Given the description of an element on the screen output the (x, y) to click on. 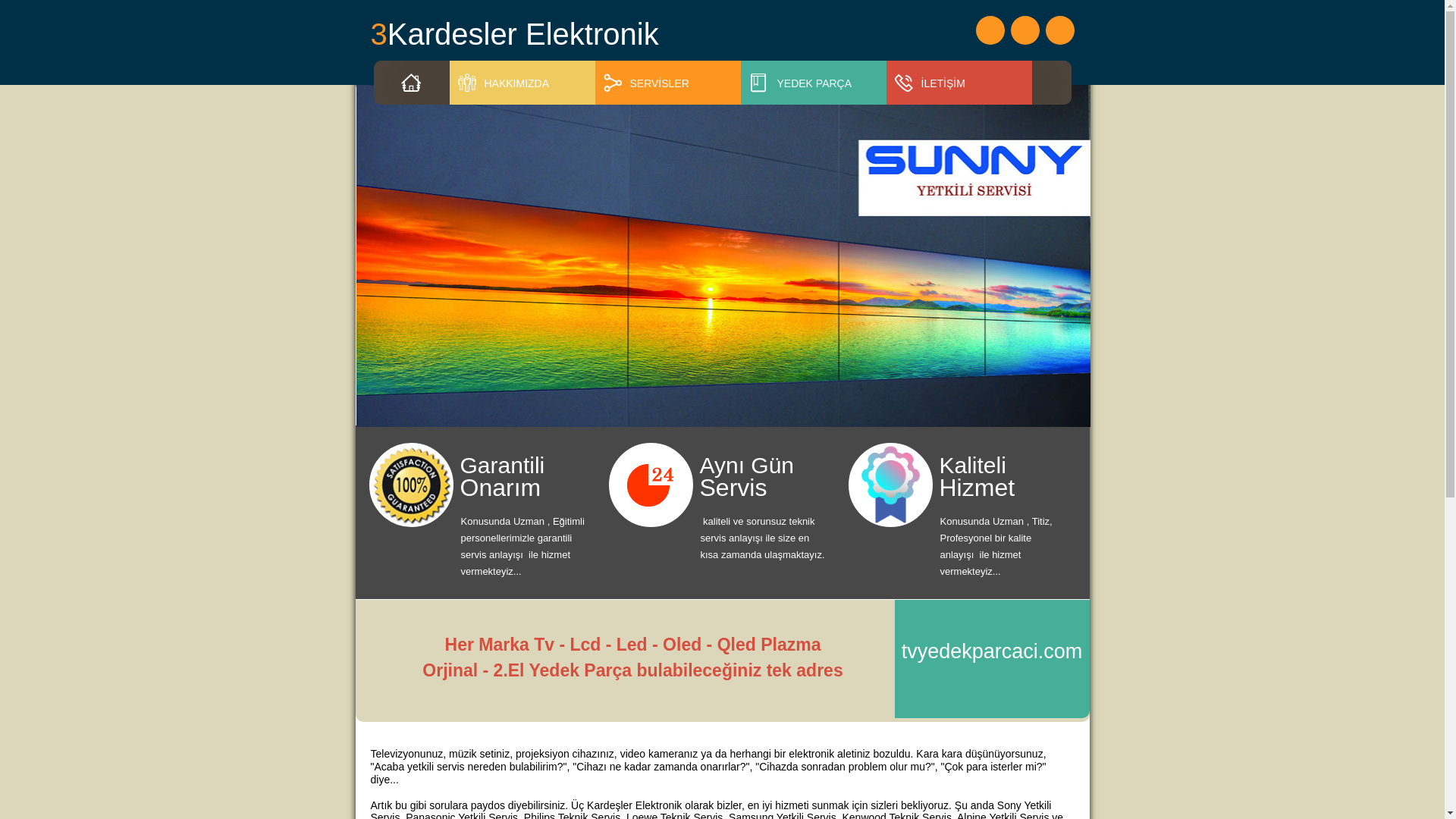
HAKKIMIZDA Element type: text (525, 83)
3Kardesler Elektronik Element type: text (543, 33)
